Given the description of an element on the screen output the (x, y) to click on. 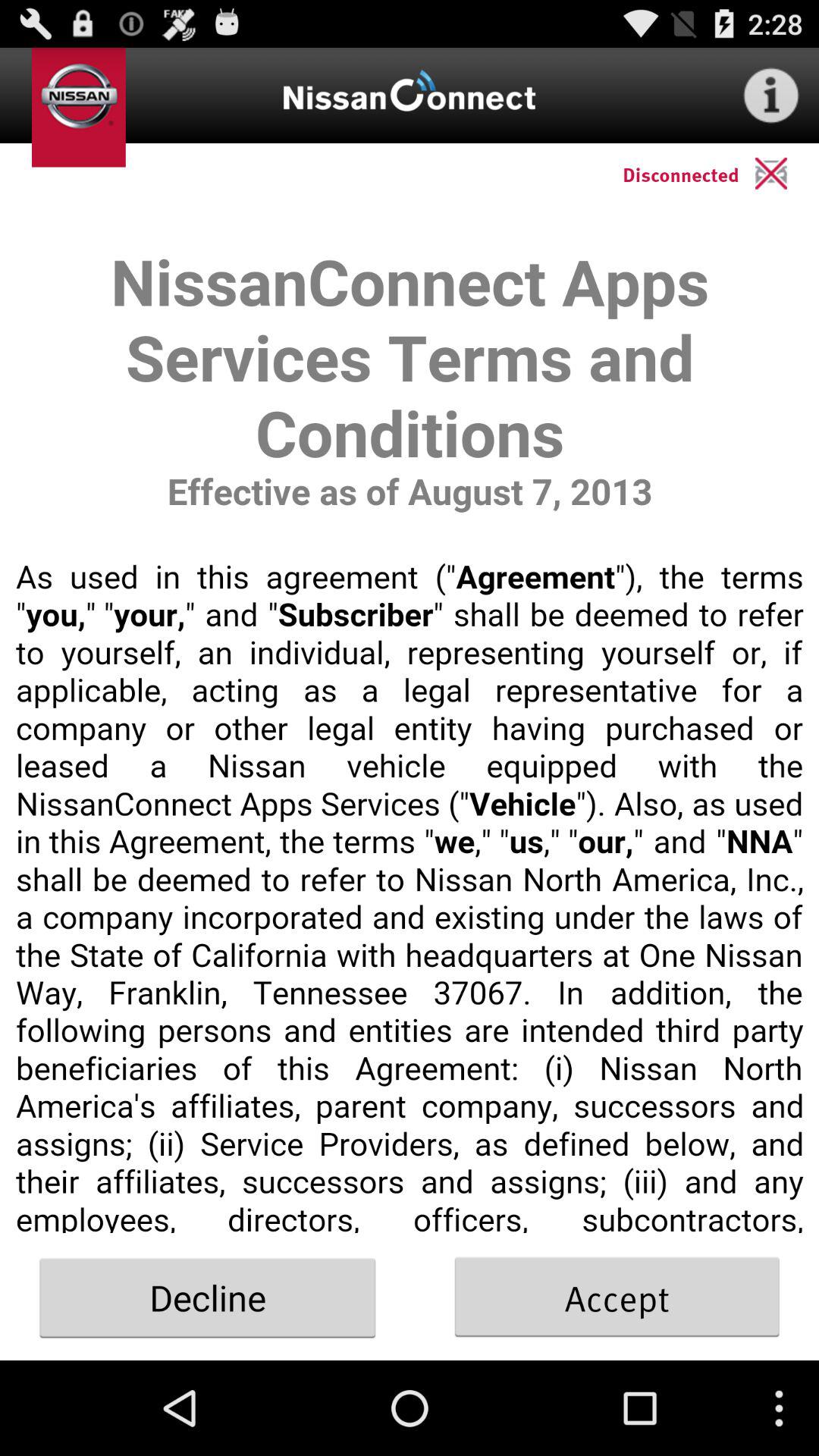
terms and conditions (409, 718)
